Given the description of an element on the screen output the (x, y) to click on. 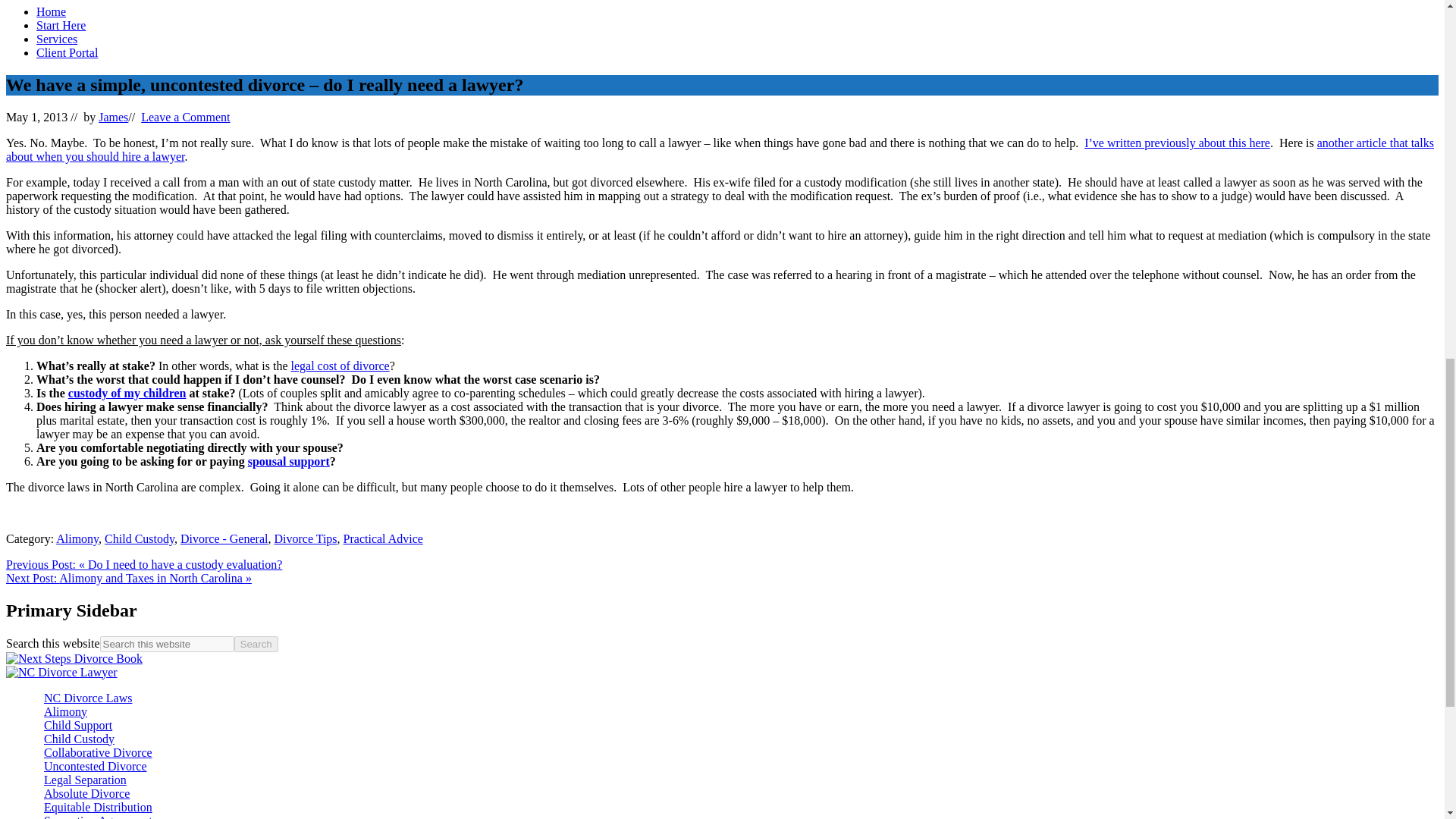
Leave a Comment (185, 116)
Search (256, 643)
Child Custody in Cary (127, 392)
Search (256, 643)
Why a divorce assessment is such a great idea (1176, 142)
